Given the description of an element on the screen output the (x, y) to click on. 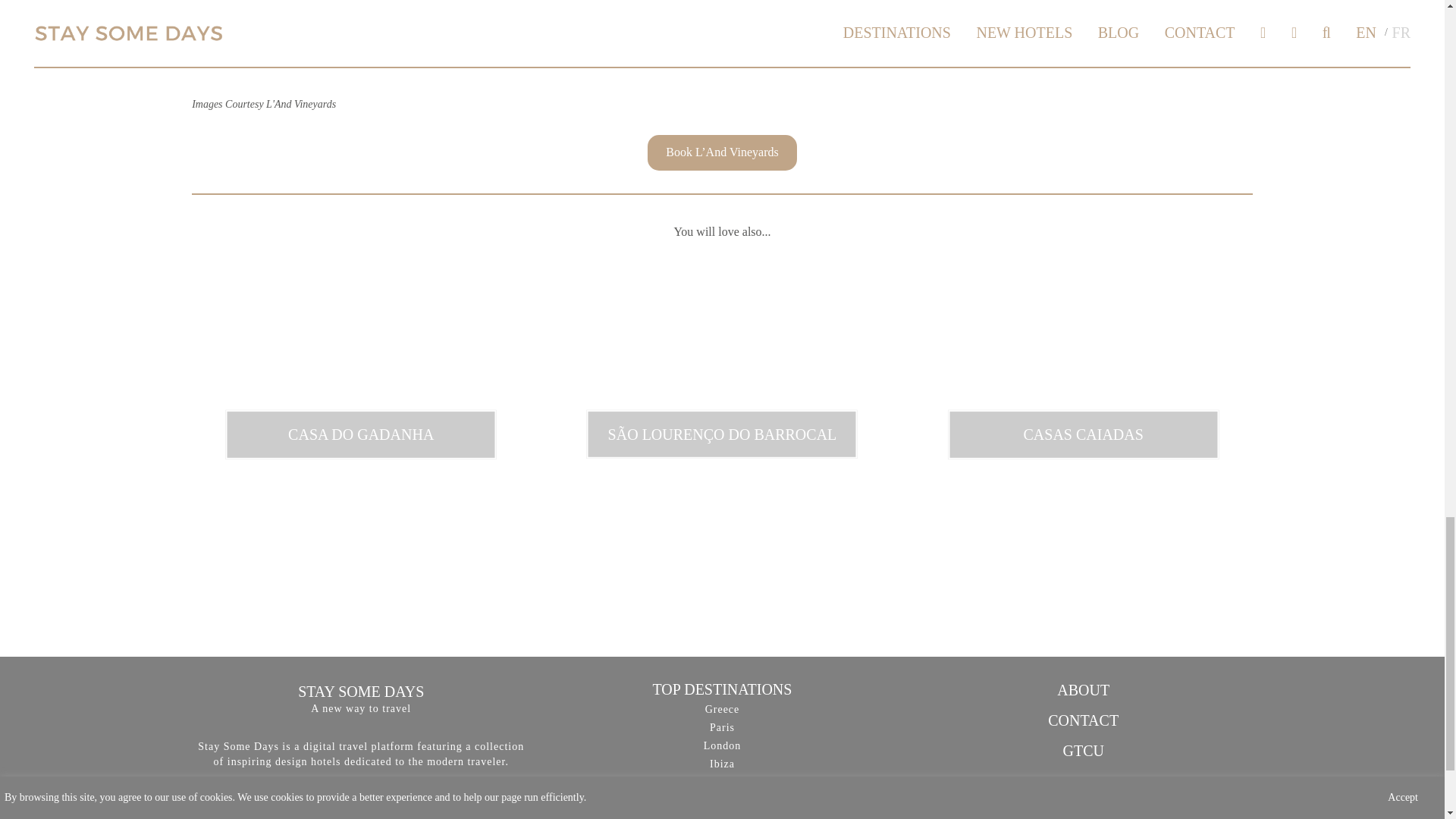
Greece (721, 708)
CASA DO GADANHA (360, 434)
L'AND Vineyards (305, 35)
Casas Caiadas (1083, 434)
L'AND Vineyards (555, 35)
CASAS CAIADAS (1083, 434)
TOP DESTINATIONS (722, 688)
Casa do Gadanha (360, 434)
